Given the description of an element on the screen output the (x, y) to click on. 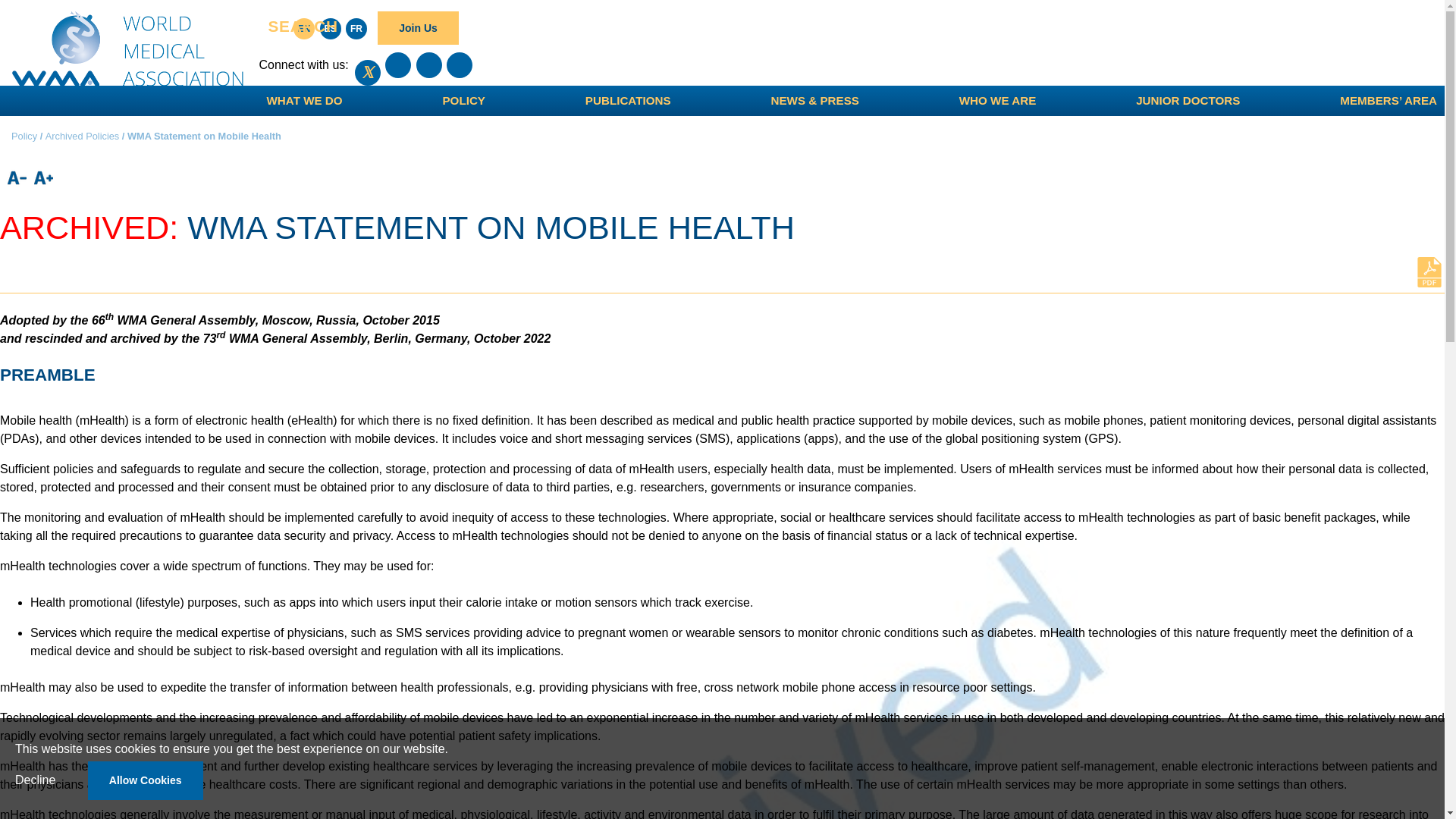
FR (356, 28)
SEARCH (303, 26)
WHAT WE DO (304, 100)
Join Us (417, 27)
EN (304, 28)
ES (330, 28)
